Given the description of an element on the screen output the (x, y) to click on. 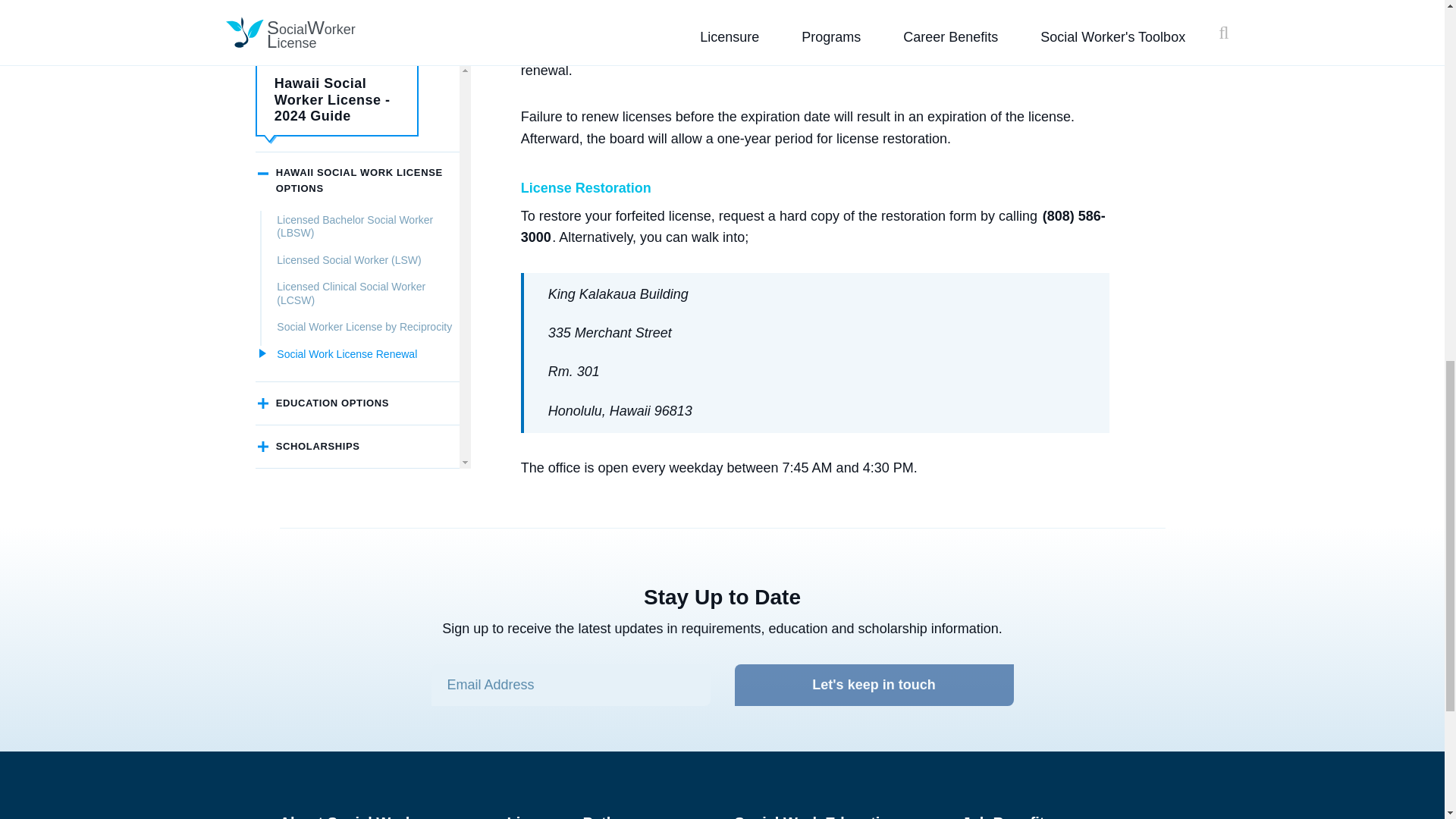
Let's keep in touch (873, 684)
